Given the description of an element on the screen output the (x, y) to click on. 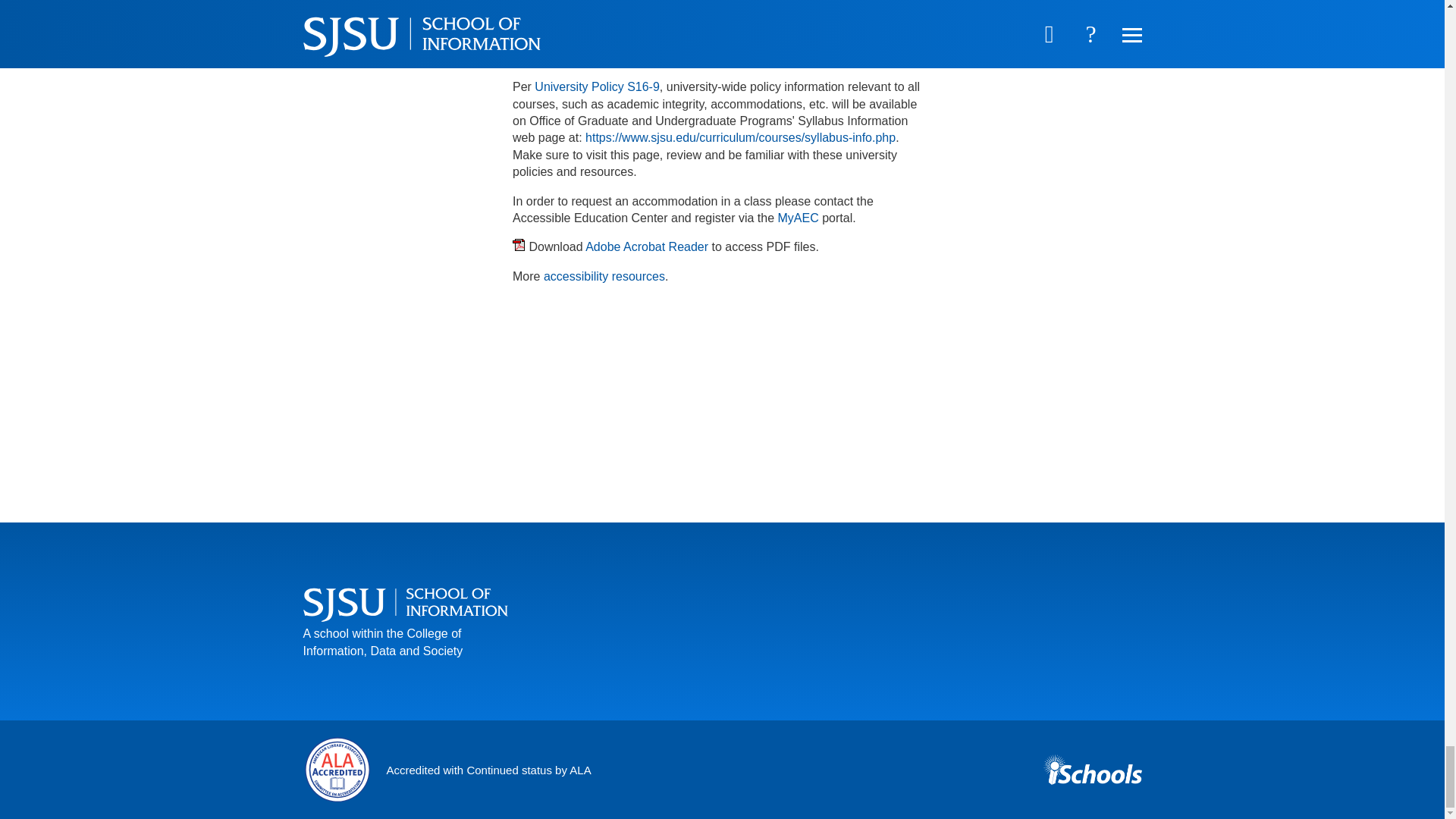
Download the free Acrobat PDF Reader (646, 246)
iSchool Accessibility Resources (604, 276)
University Policies For Syllabi (740, 137)
